Given the description of an element on the screen output the (x, y) to click on. 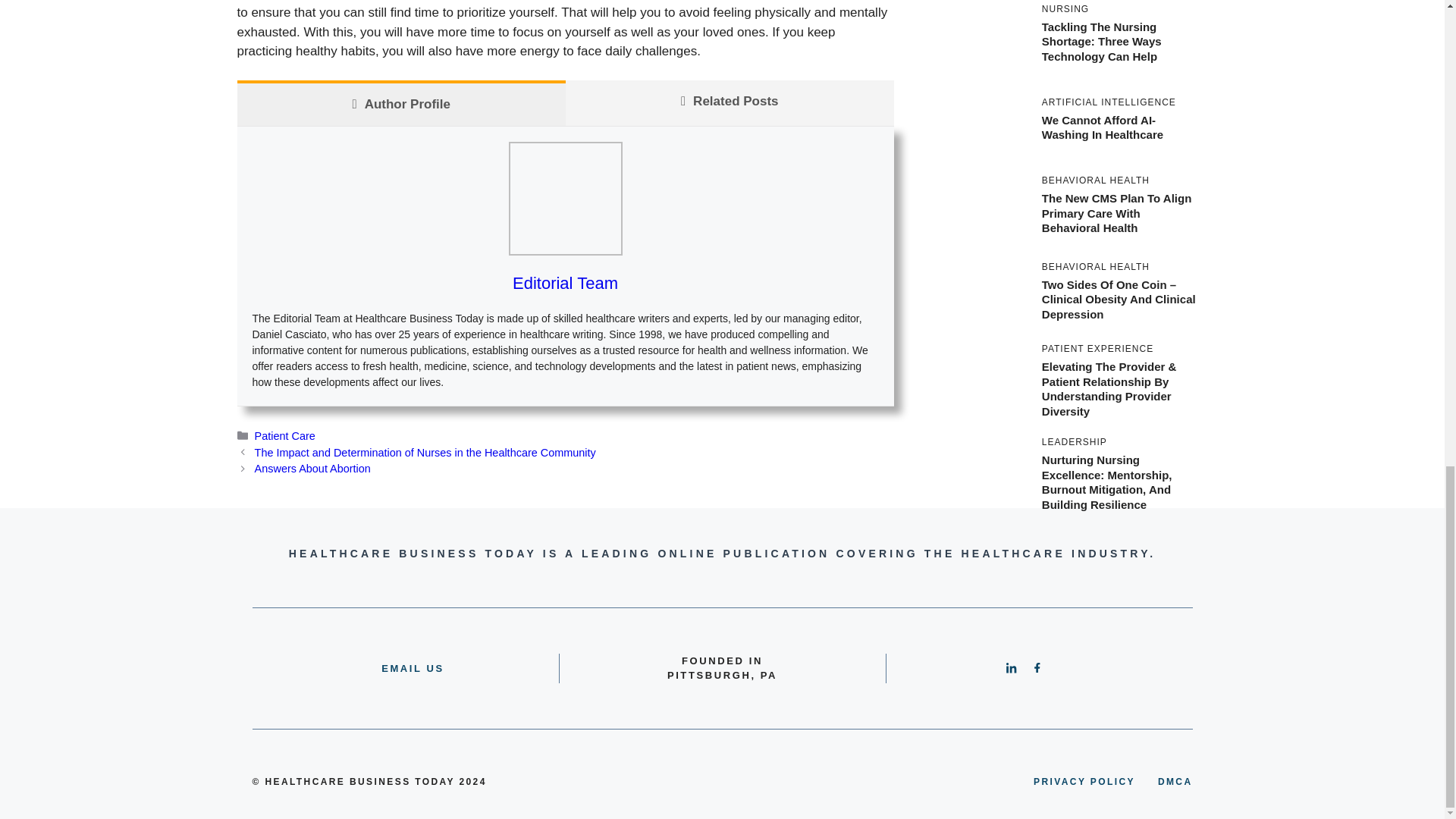
Patient Care (284, 435)
Editorial Team (564, 282)
Answers About Abortion (312, 468)
